Given the description of an element on the screen output the (x, y) to click on. 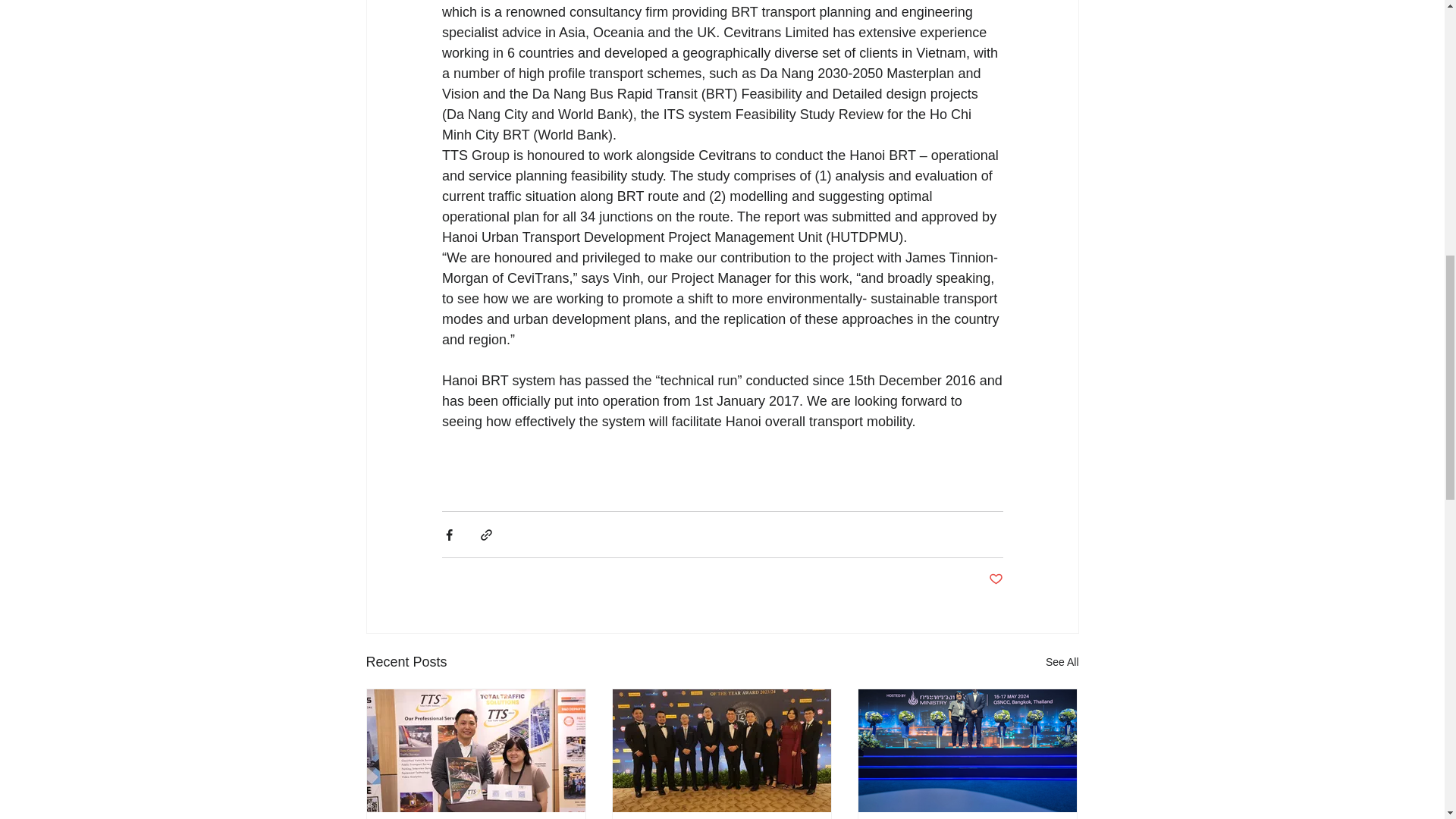
See All (1061, 662)
Post not marked as liked (995, 579)
